Given the description of an element on the screen output the (x, y) to click on. 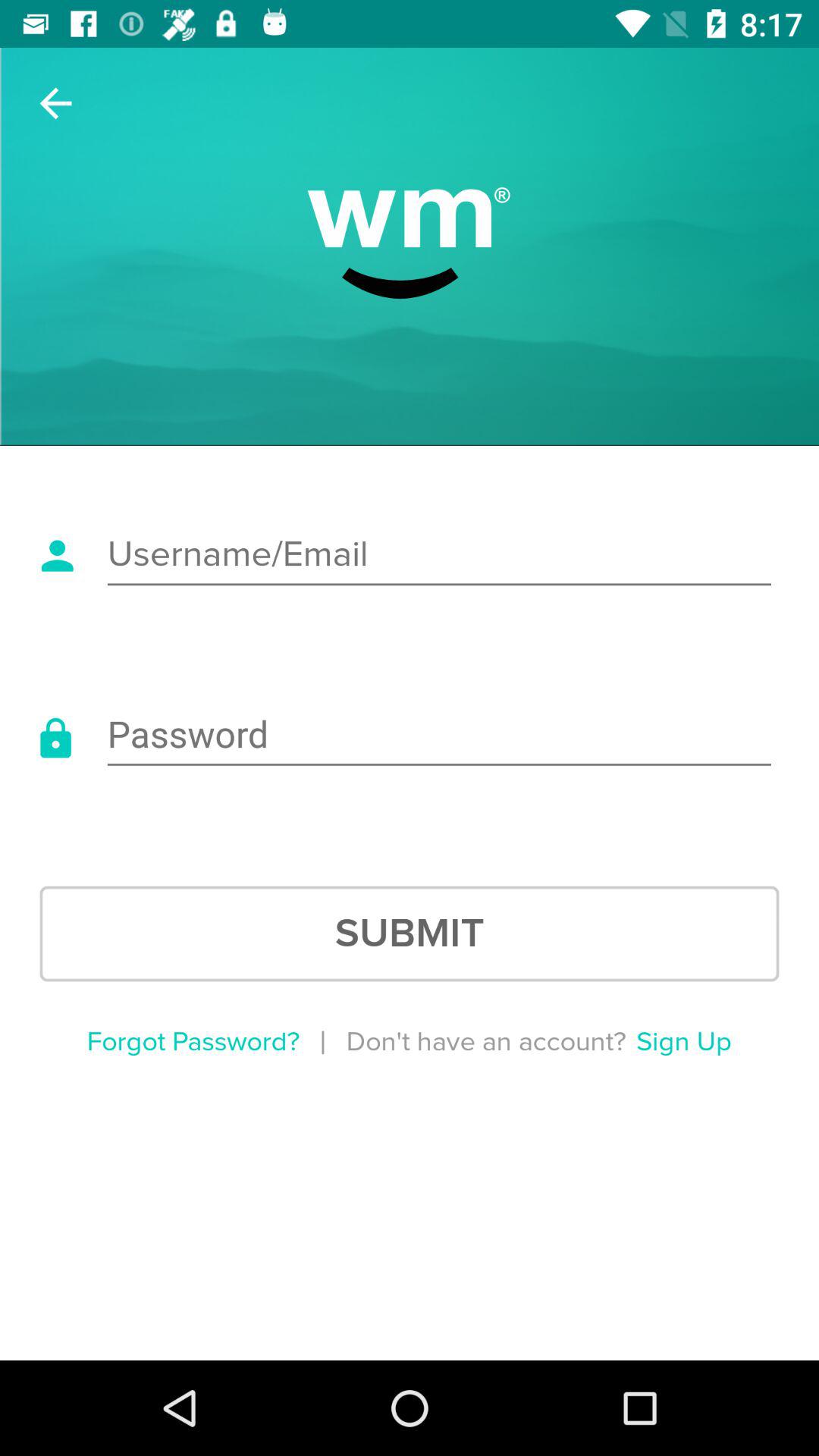
turn on forgot password? (193, 1042)
